Given the description of an element on the screen output the (x, y) to click on. 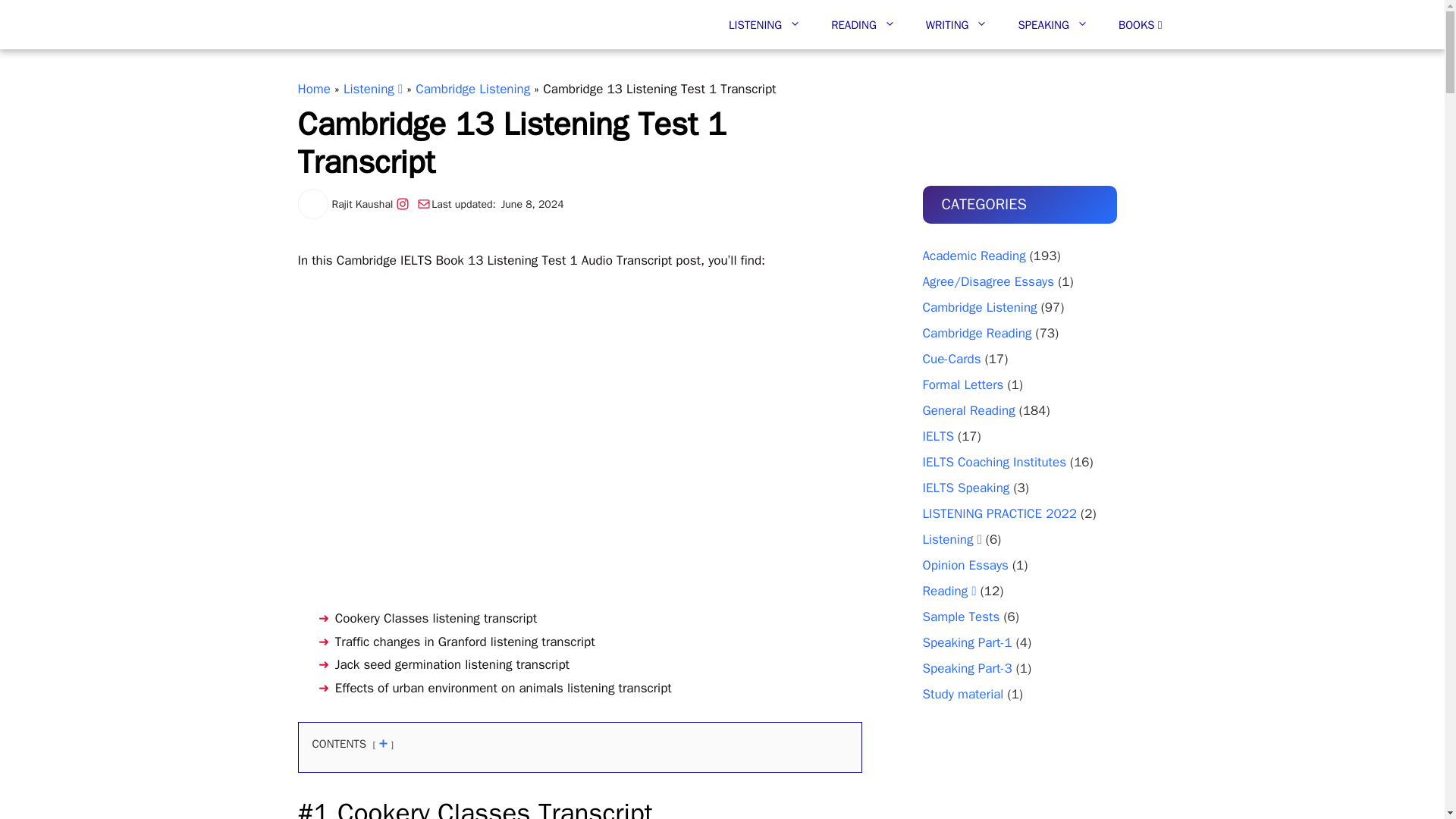
LISTENING (764, 23)
SPEAKING (1052, 23)
IELTS Progress (361, 24)
Mail (423, 203)
WRITING (957, 23)
Home (313, 89)
Rajit Kaushal (362, 204)
Instagram (402, 203)
READING (863, 23)
Cambridge Listening (471, 89)
